Given the description of an element on the screen output the (x, y) to click on. 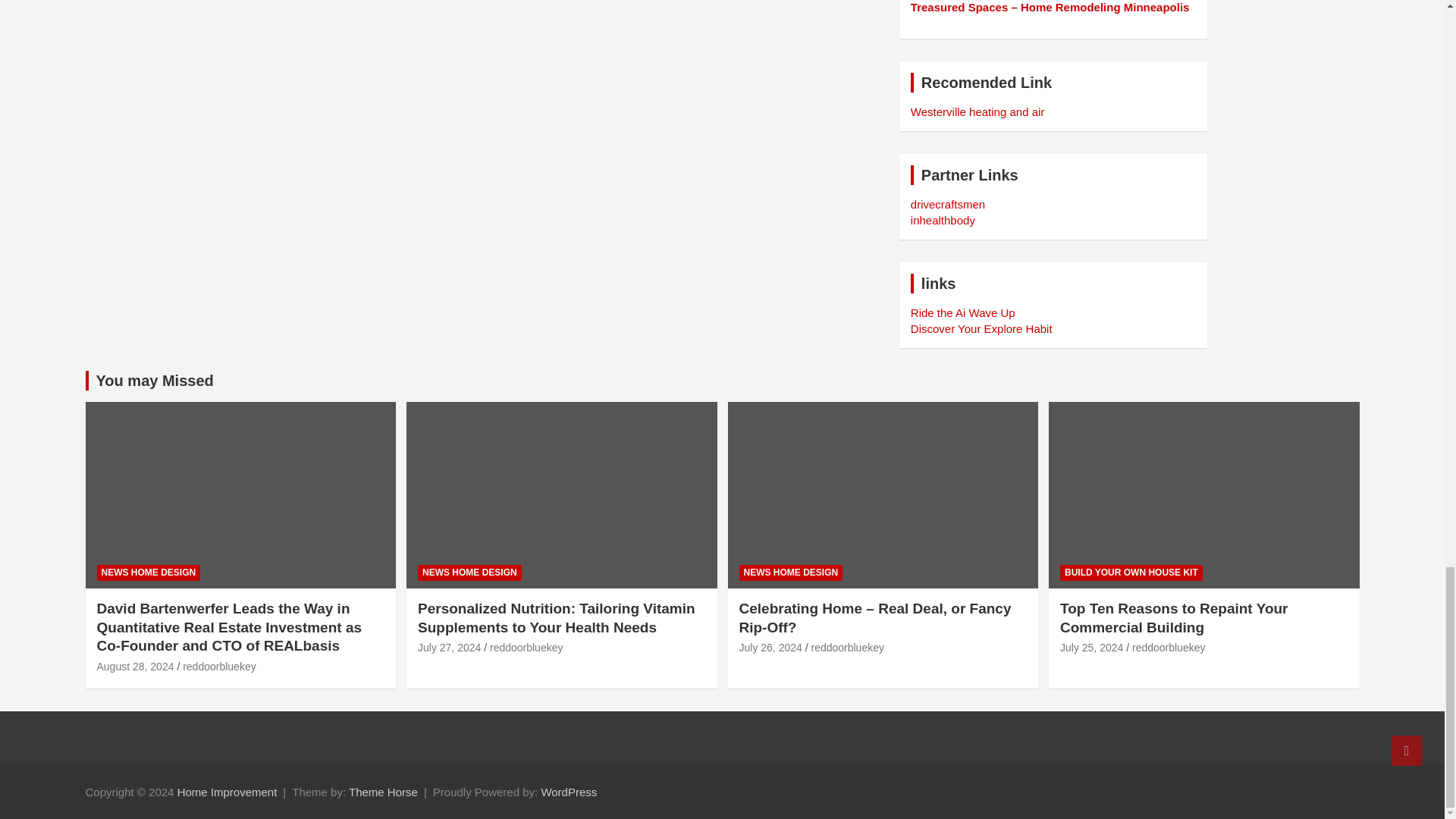
Top Ten Reasons to Repaint Your Commercial Building (1090, 647)
Home Improvement (227, 791)
WordPress (568, 791)
Theme Horse (383, 791)
